Given the description of an element on the screen output the (x, y) to click on. 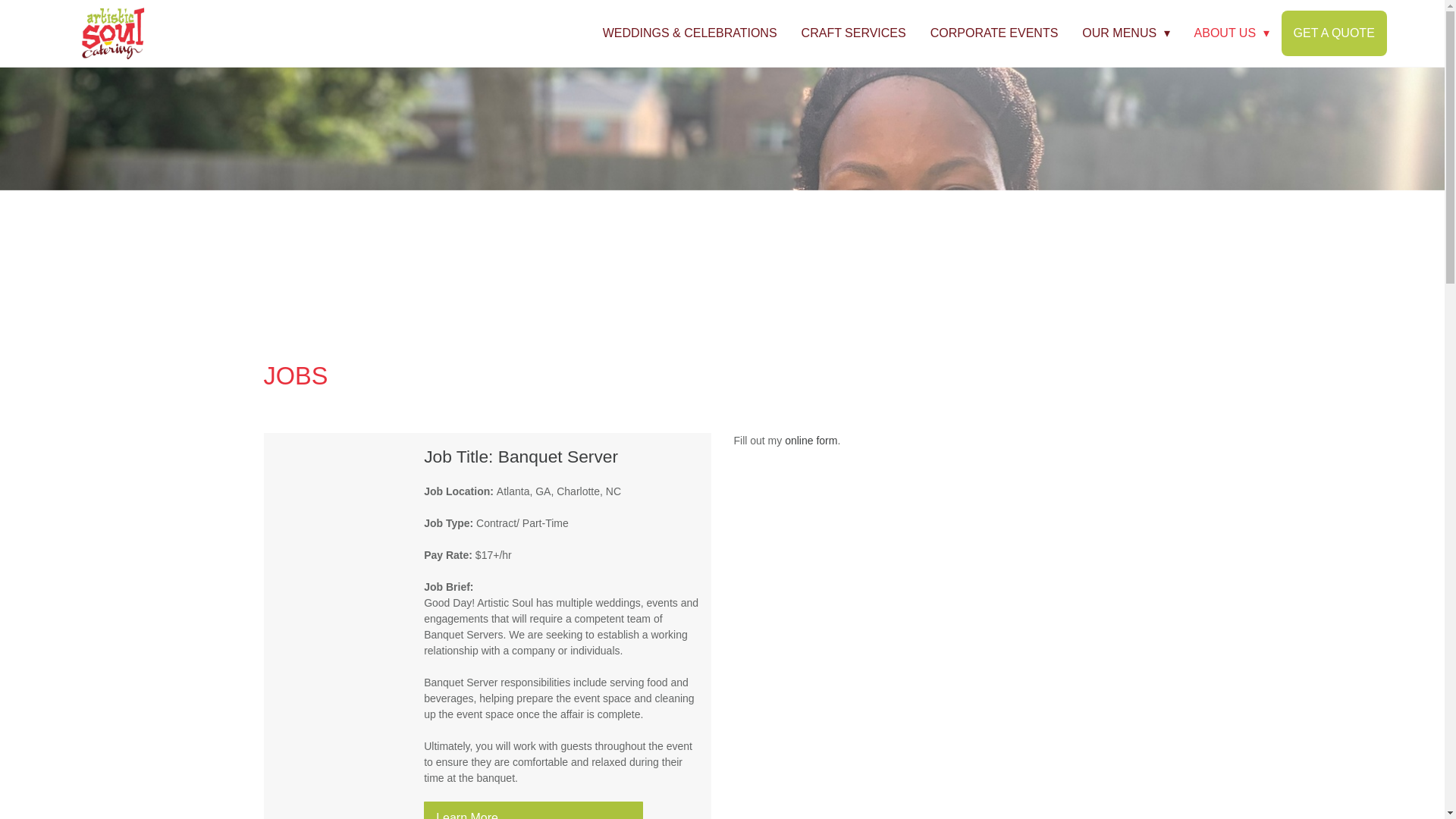
CRAFT SERVICES (853, 33)
CORPORATE EVENTS (994, 33)
ABOUT US (1231, 33)
Learn More (533, 810)
online form (810, 440)
GET A QUOTE (1334, 33)
OUR MENUS (1125, 33)
